Given the description of an element on the screen output the (x, y) to click on. 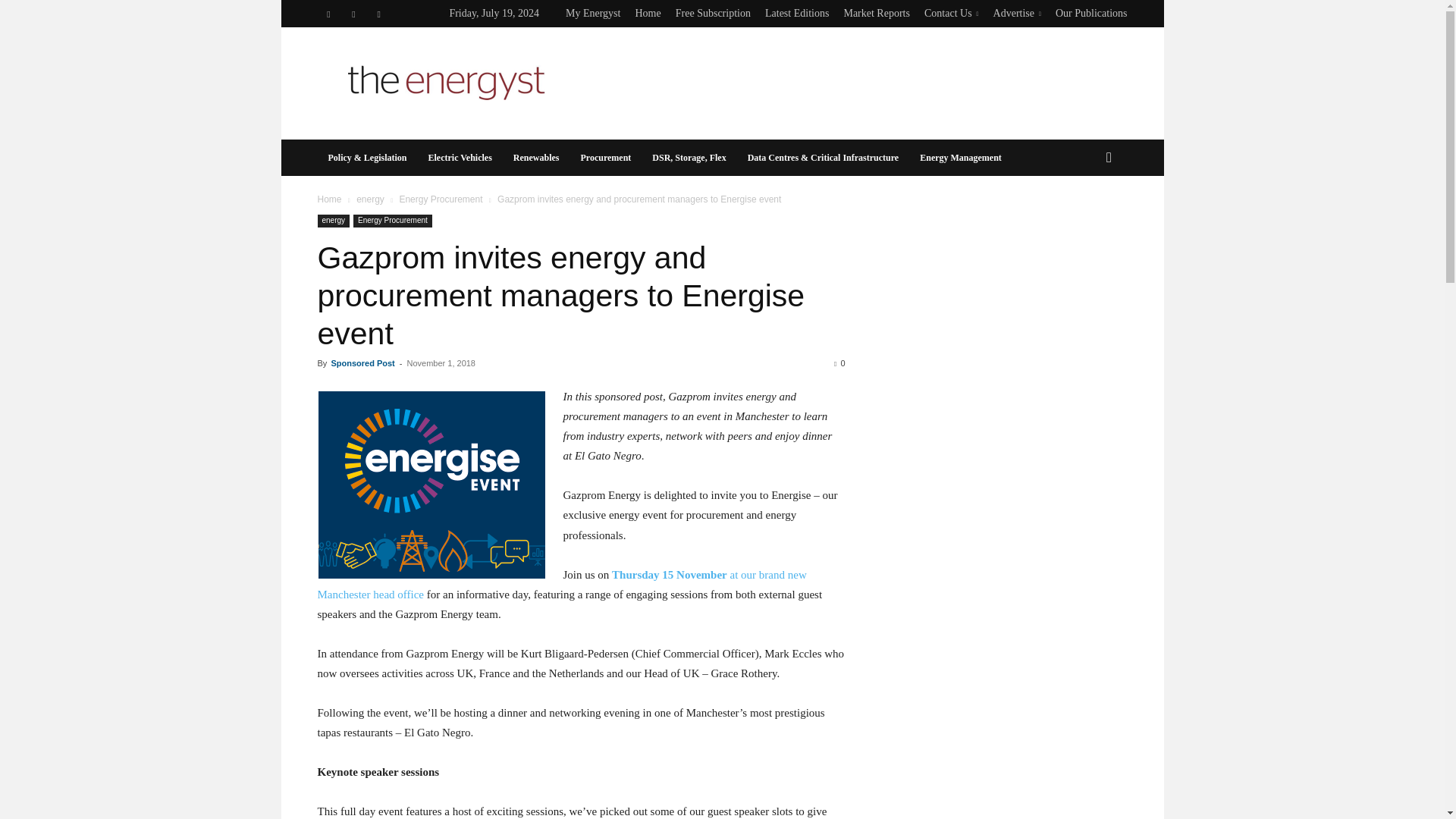
Procurement (605, 157)
Energy Management (959, 157)
Electric Vehicles (459, 157)
View all posts in energy (370, 199)
Market Reports (875, 12)
Search (1085, 218)
energy (370, 199)
Home (647, 12)
My Energyst (593, 12)
3rd party ad content (850, 82)
Home (328, 199)
Free Subscription (713, 12)
Latest Editions (796, 12)
View all posts in Energy Procurement (439, 199)
Advertise (1016, 12)
